Given the description of an element on the screen output the (x, y) to click on. 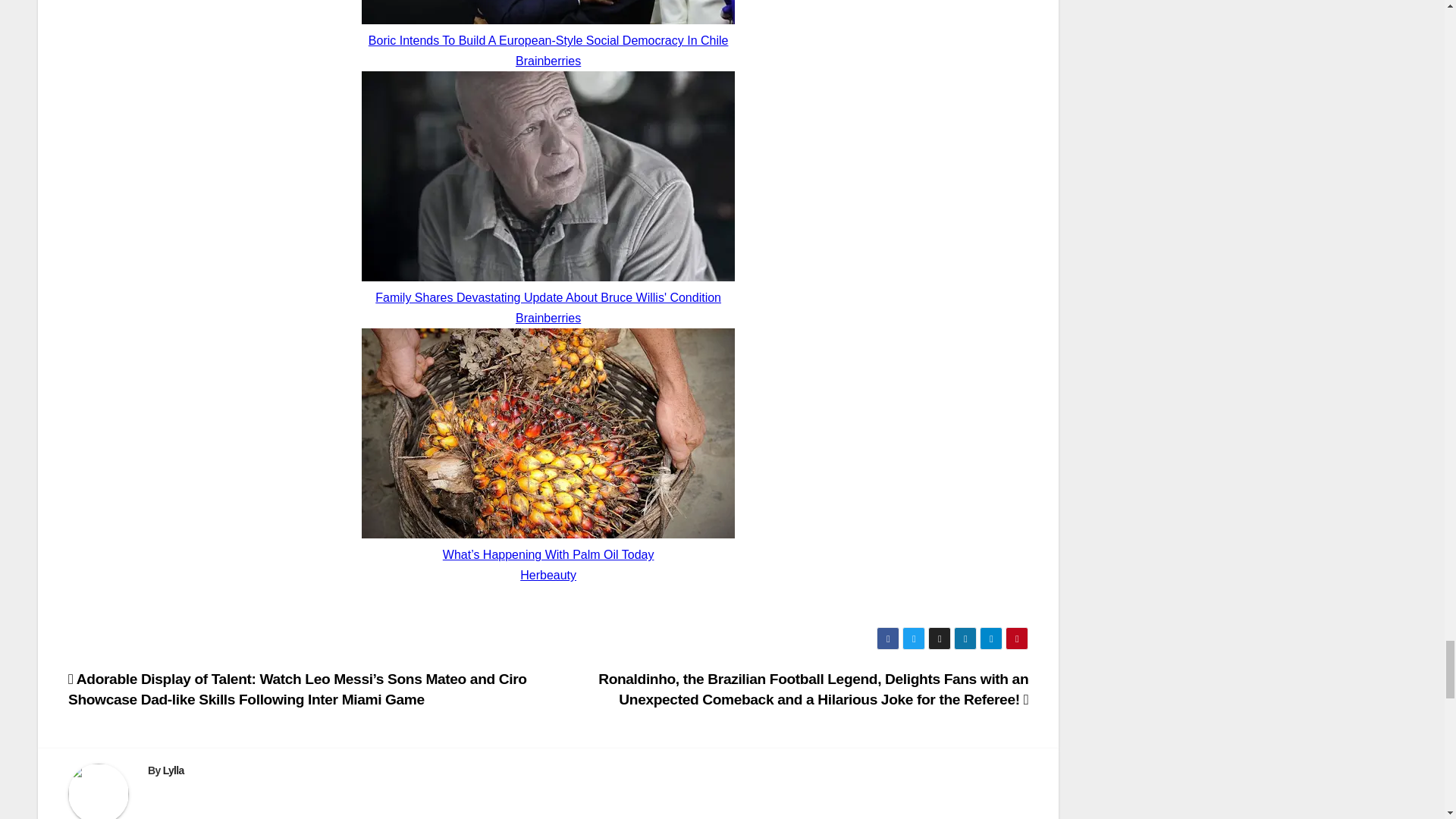
Lylla (173, 770)
